Given the description of an element on the screen output the (x, y) to click on. 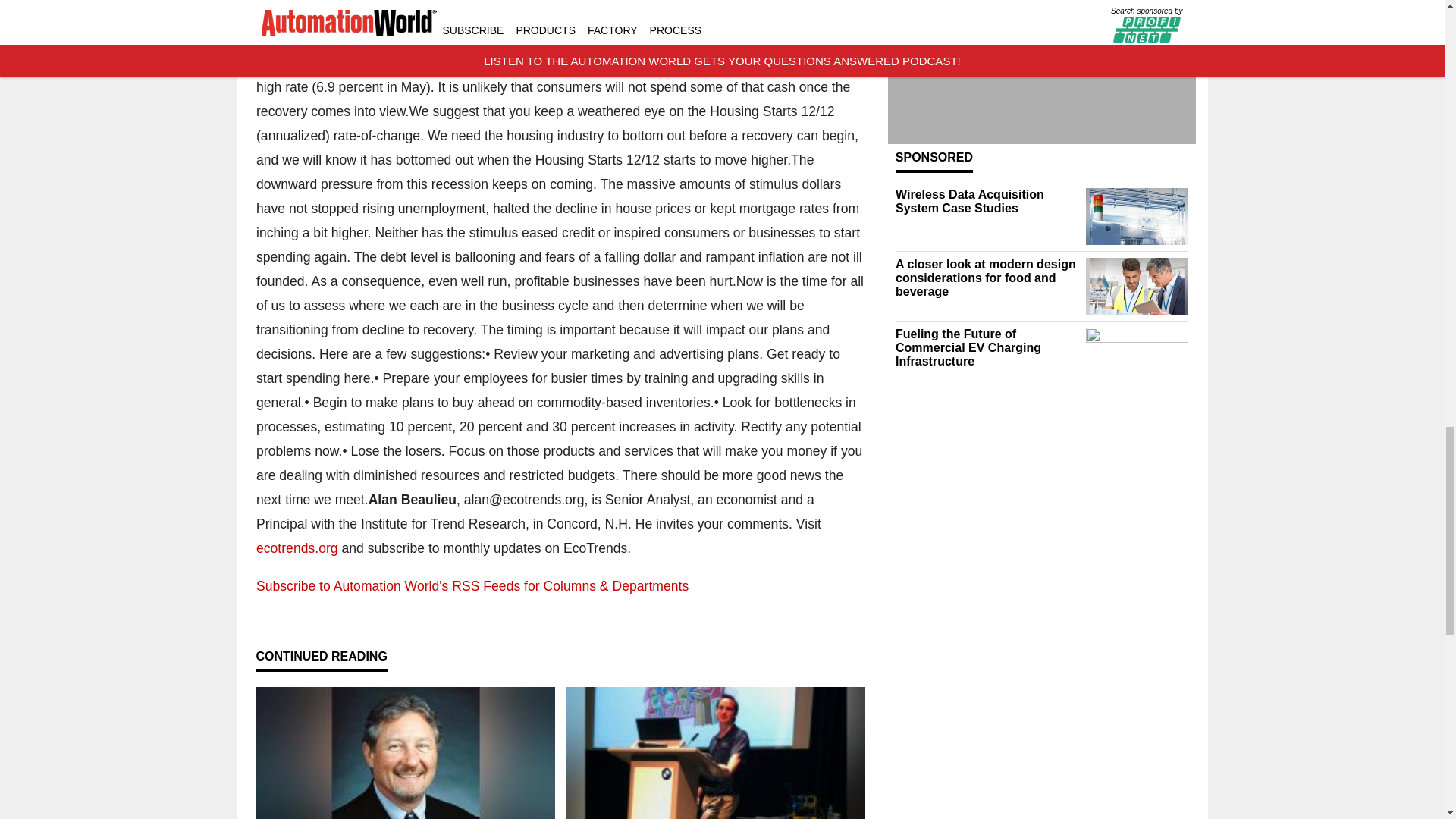
ecotrends.org (296, 548)
